Given the description of an element on the screen output the (x, y) to click on. 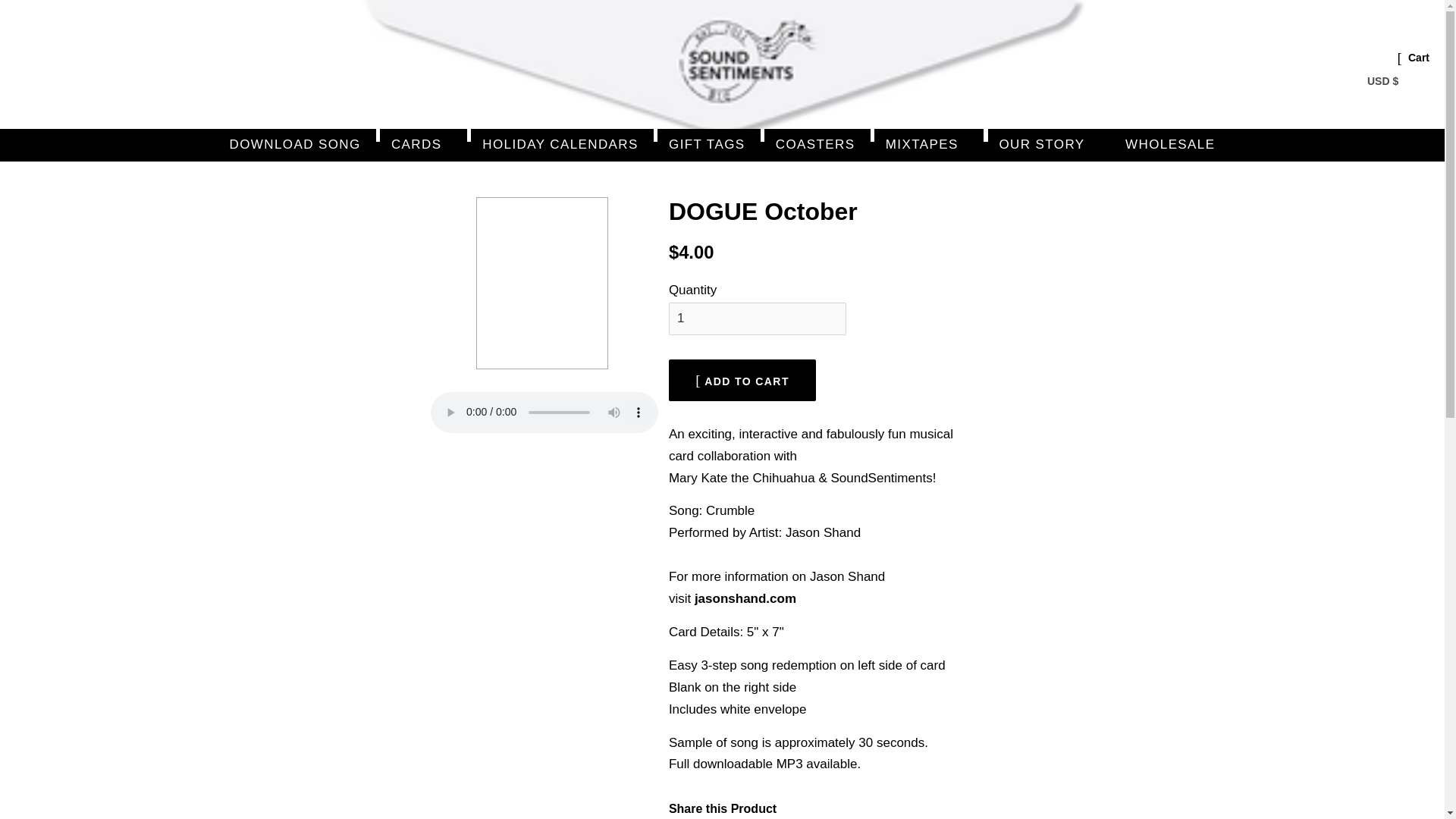
Cart (1418, 58)
DOWNLOAD SONG (302, 144)
1 (756, 318)
GIFT TAGS (709, 144)
CARDS (423, 144)
Jason Shand (745, 598)
HOLIDAY CALENDARS (561, 144)
